Given the description of an element on the screen output the (x, y) to click on. 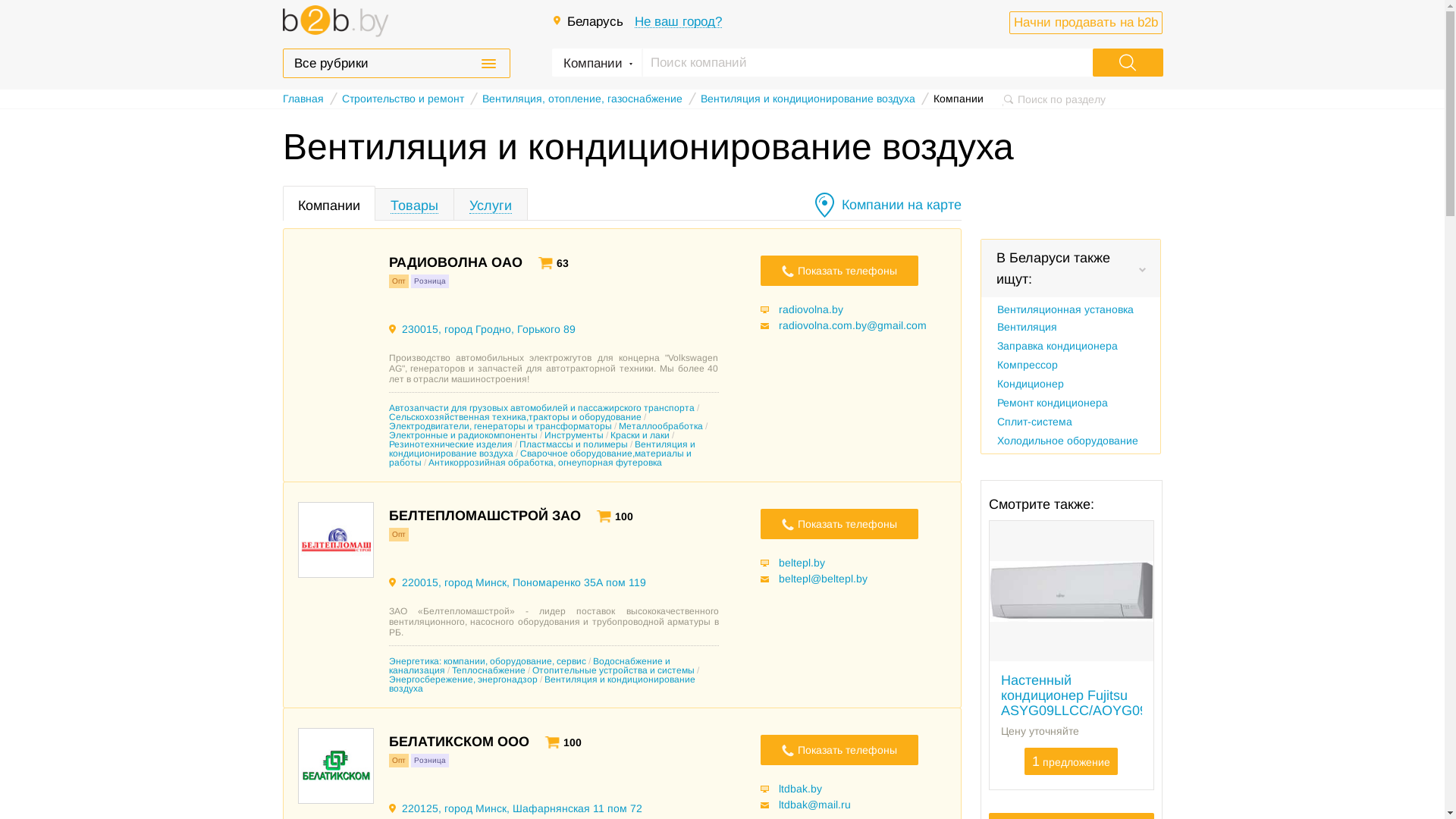
100 Element type: text (560, 742)
ltdbak.by Element type: text (795, 788)
beltepl@beltepl.by Element type: text (819, 578)
radiovolna.com.by@gmail.com Element type: text (848, 325)
ltdbak@mail.ru Element type: text (810, 804)
100 Element type: text (611, 516)
beltepl.by Element type: text (796, 562)
63 Element type: text (552, 263)
radiovolna.by Element type: text (805, 309)
